Given the description of an element on the screen output the (x, y) to click on. 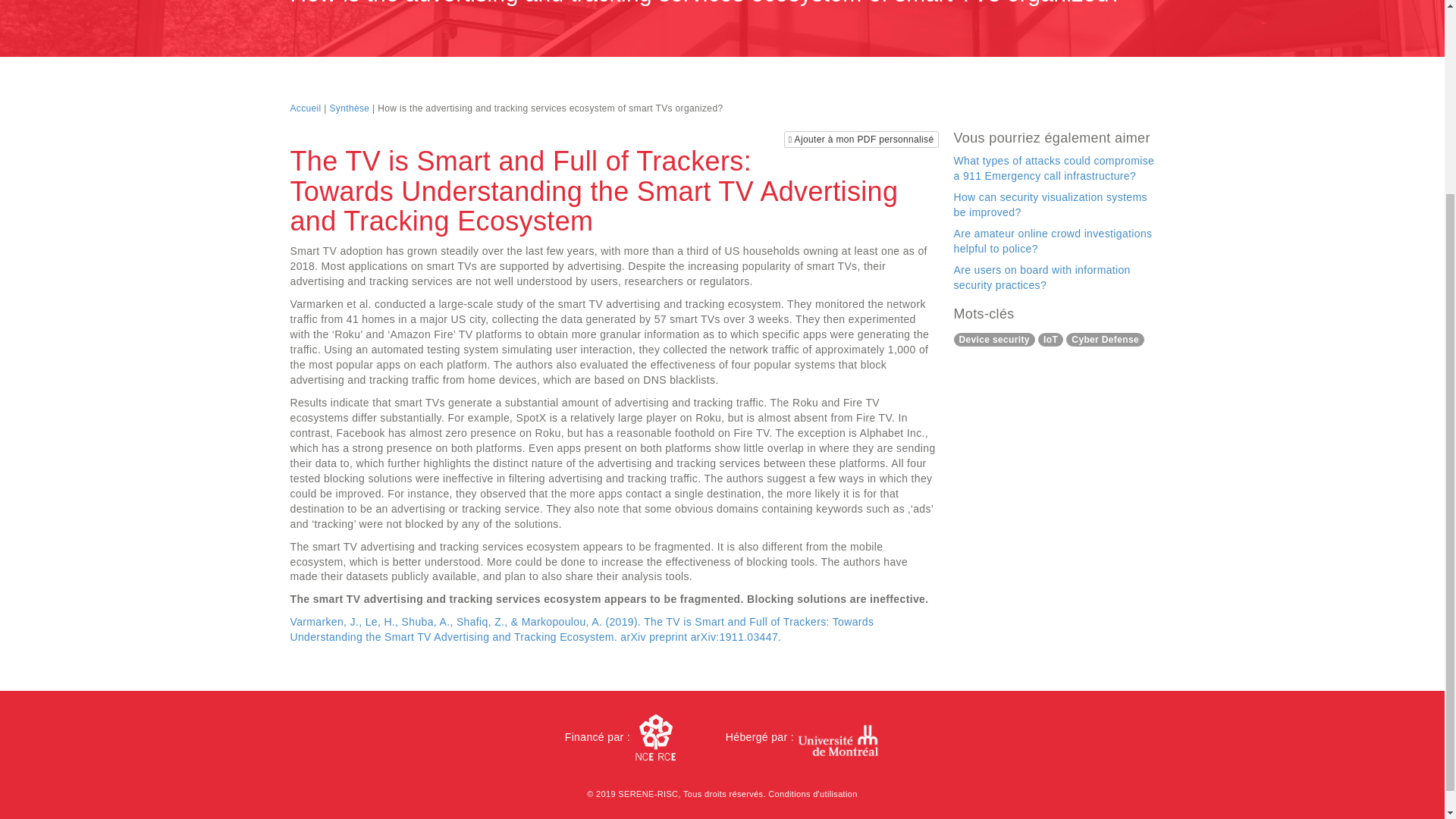
Accueil (304, 108)
UDM (837, 738)
NCE (655, 737)
Are amateur online crowd investigations helpful to police? (1053, 240)
Are users on board with information security practices? (1042, 277)
How can security visualization systems be improved? (1050, 204)
